Given the description of an element on the screen output the (x, y) to click on. 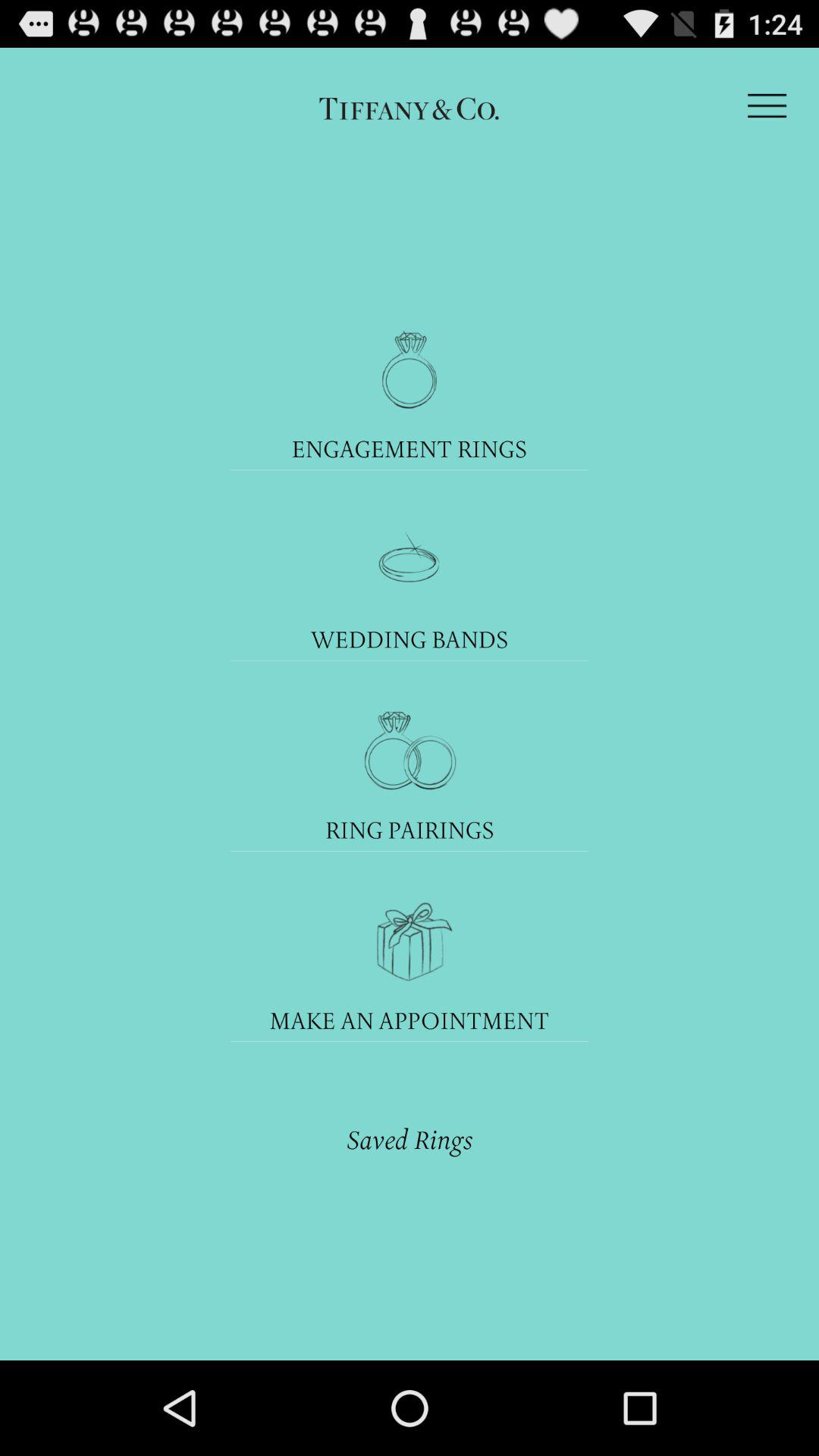
turn on the item above engagement rings icon (767, 105)
